Given the description of an element on the screen output the (x, y) to click on. 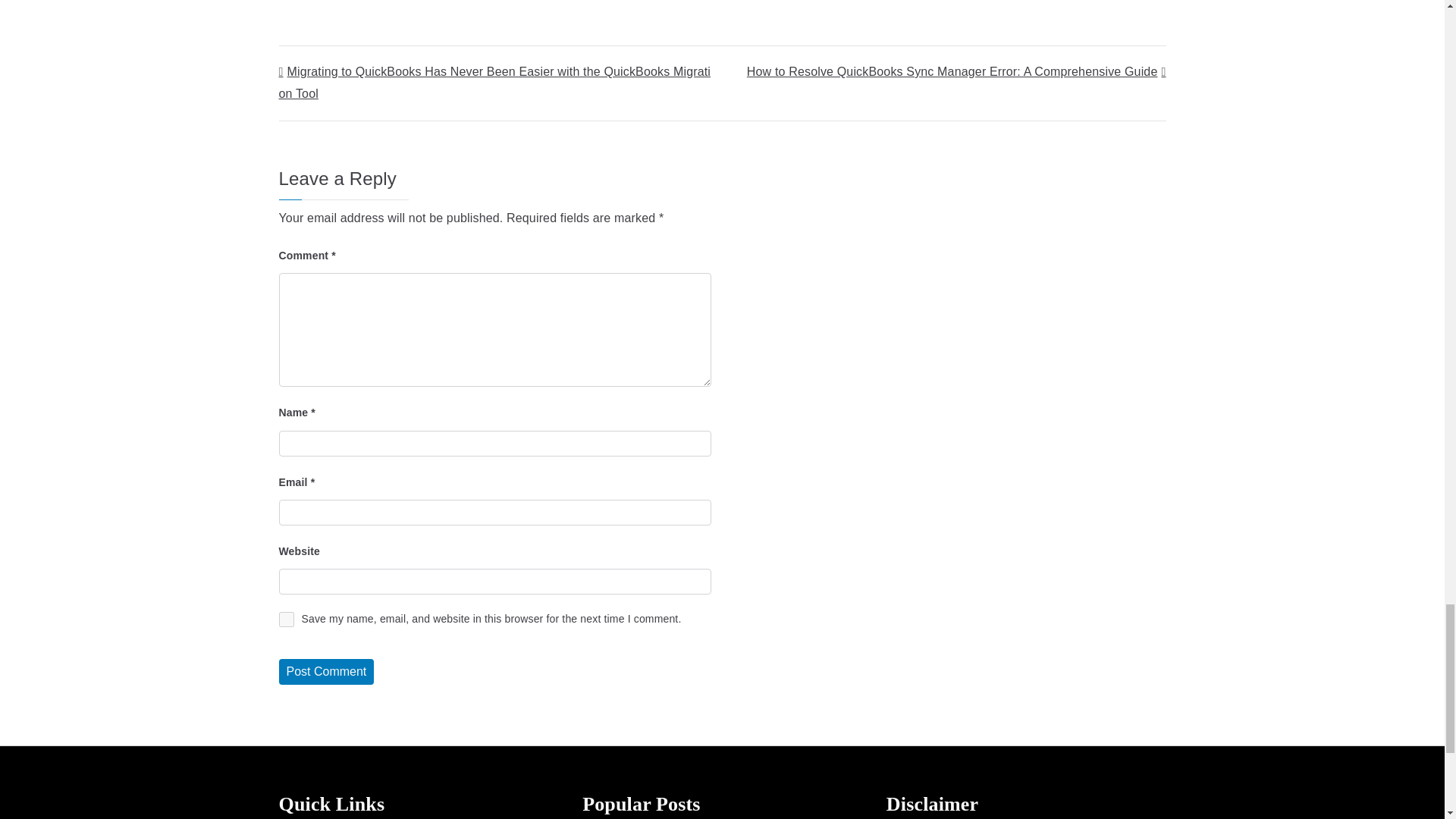
yes (286, 619)
Post Comment (326, 671)
